Given the description of an element on the screen output the (x, y) to click on. 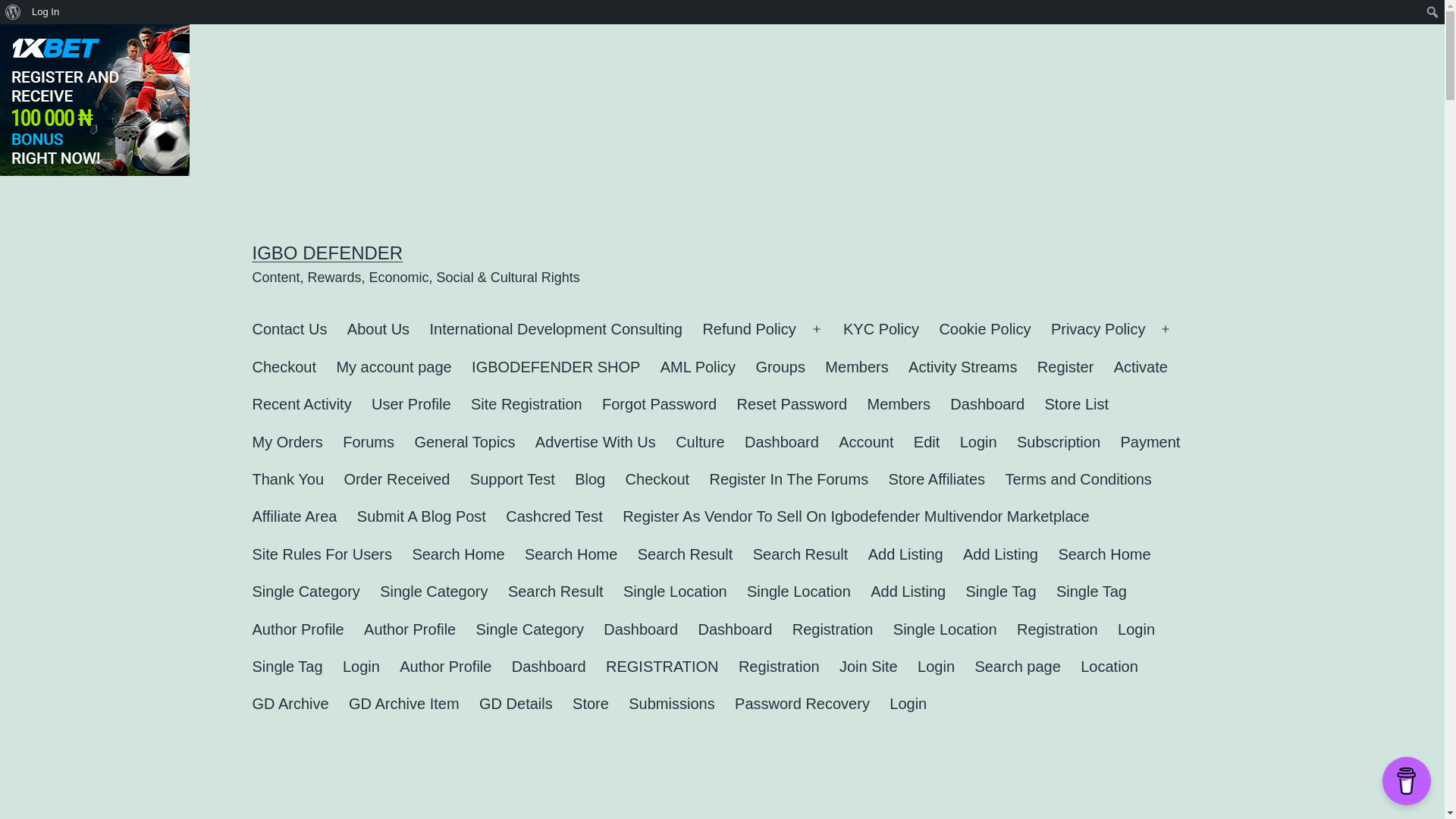
Groups (780, 366)
Members (856, 366)
My account page (393, 366)
My Orders (287, 442)
Activity Streams (962, 366)
Forgot Password (659, 404)
AML Policy (697, 366)
IGBO DEFENDER (327, 252)
Members (898, 404)
Search (17, 14)
IGBODEFENDER SHOP (555, 366)
User Profile (411, 404)
Site Registration (526, 404)
International Development Consulting (556, 329)
Forums (368, 442)
